Given the description of an element on the screen output the (x, y) to click on. 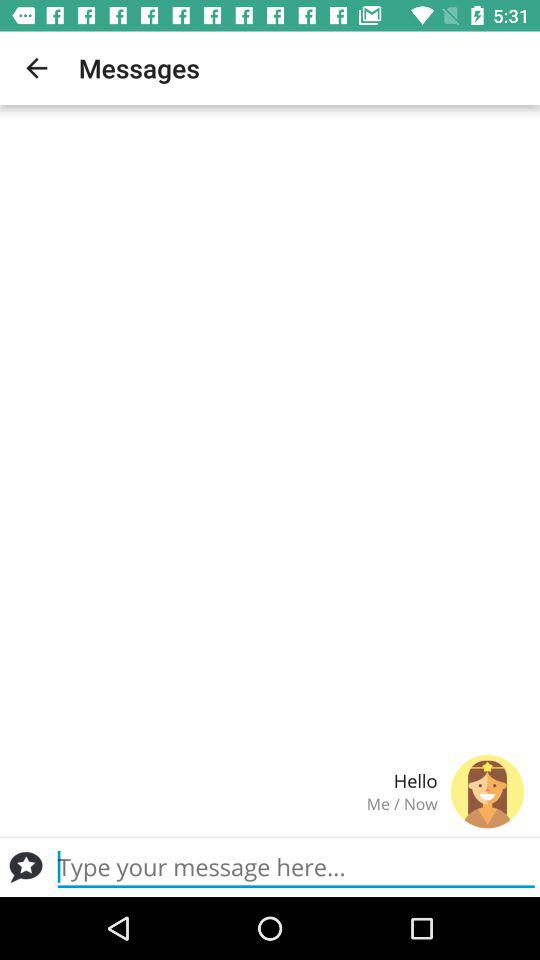
open the icon at the bottom left corner (26, 867)
